Given the description of an element on the screen output the (x, y) to click on. 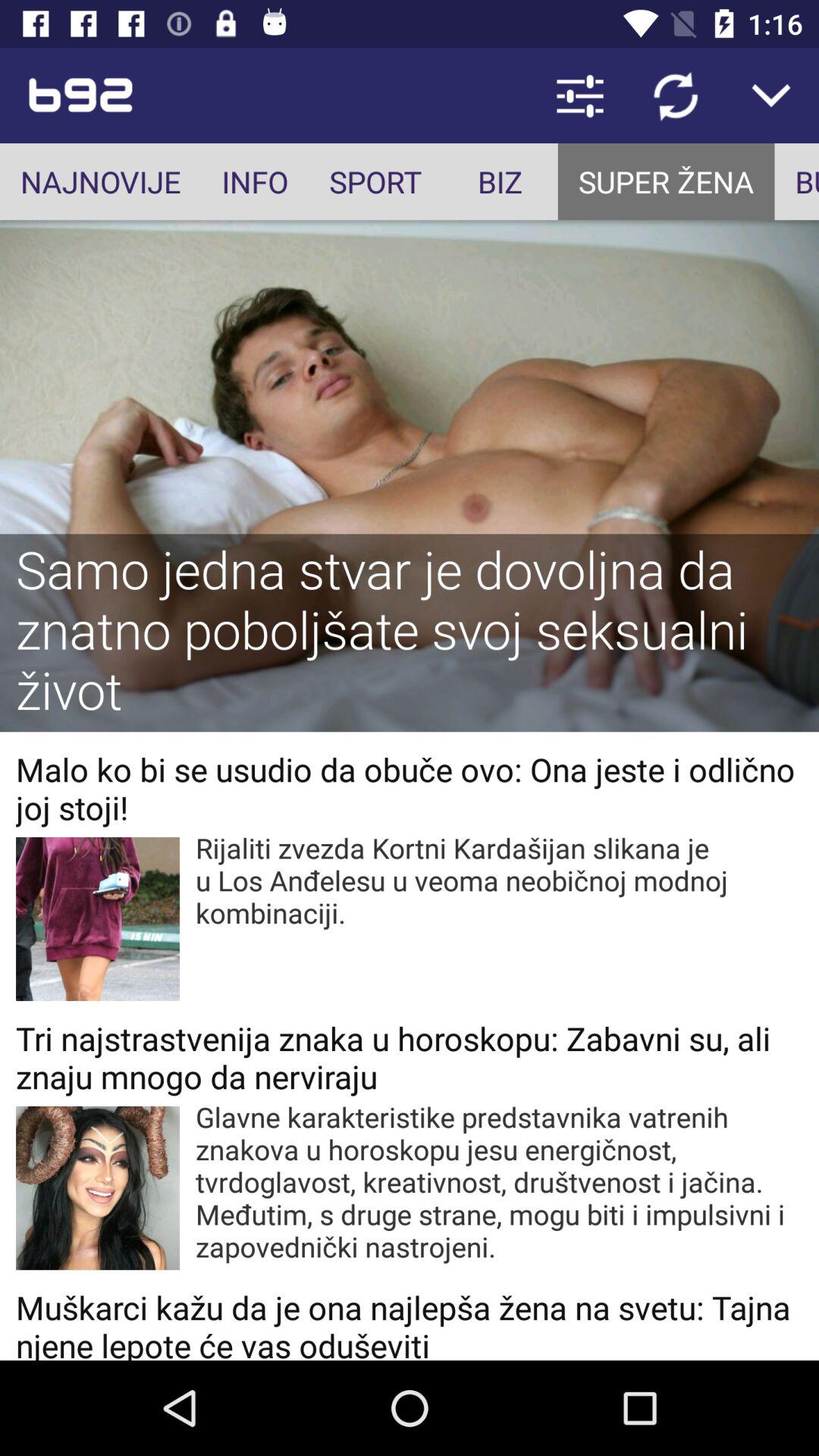
press the icon above   biz (579, 95)
